Given the description of an element on the screen output the (x, y) to click on. 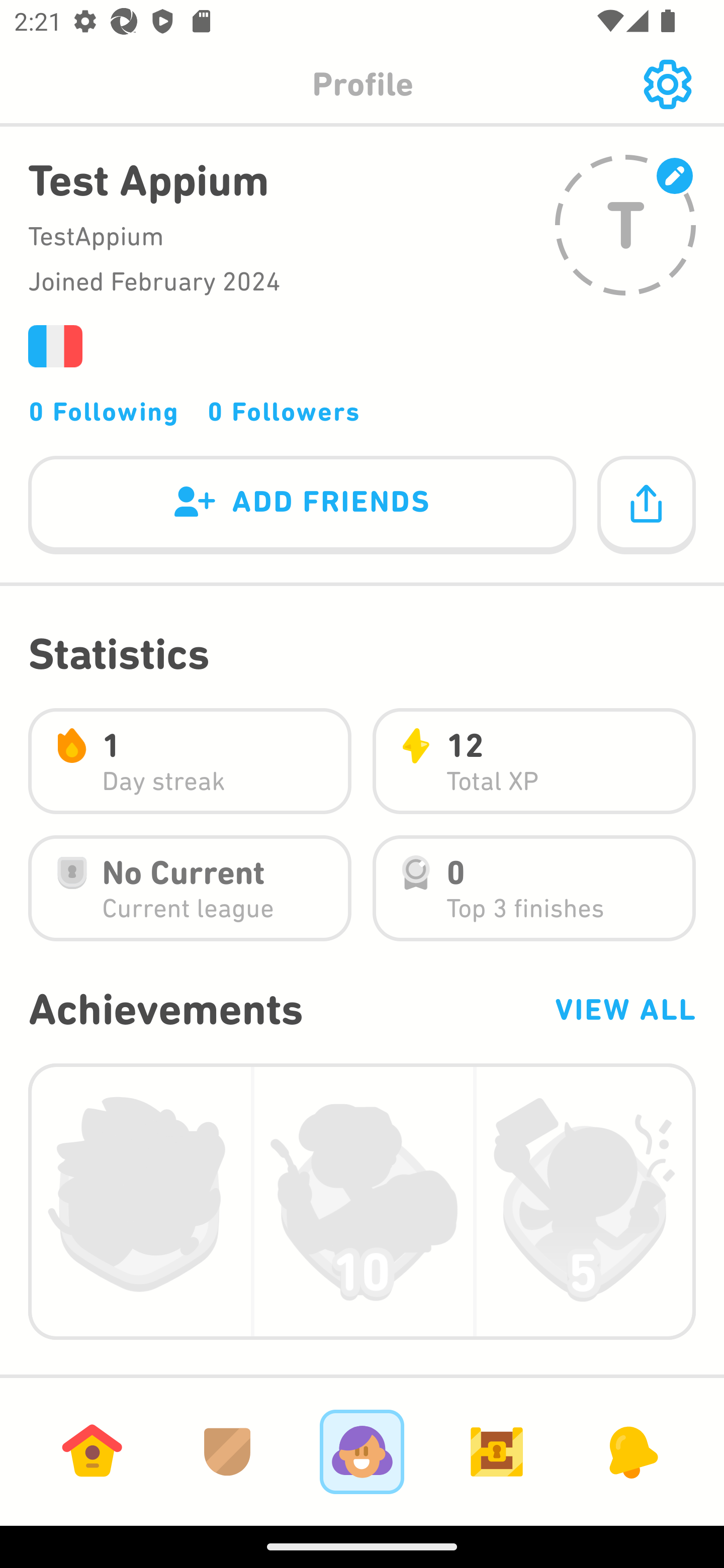
Settings (667, 84)
0 Following (103, 411)
0 Followers (283, 411)
ADD FRIENDS (302, 505)
1 Day streak (189, 760)
VIEW ALL (624, 1009)
Learn Tab (91, 1451)
Leagues Tab (227, 1451)
Profile Tab (361, 1451)
Goals Tab (496, 1451)
News Tab (631, 1451)
